Given the description of an element on the screen output the (x, y) to click on. 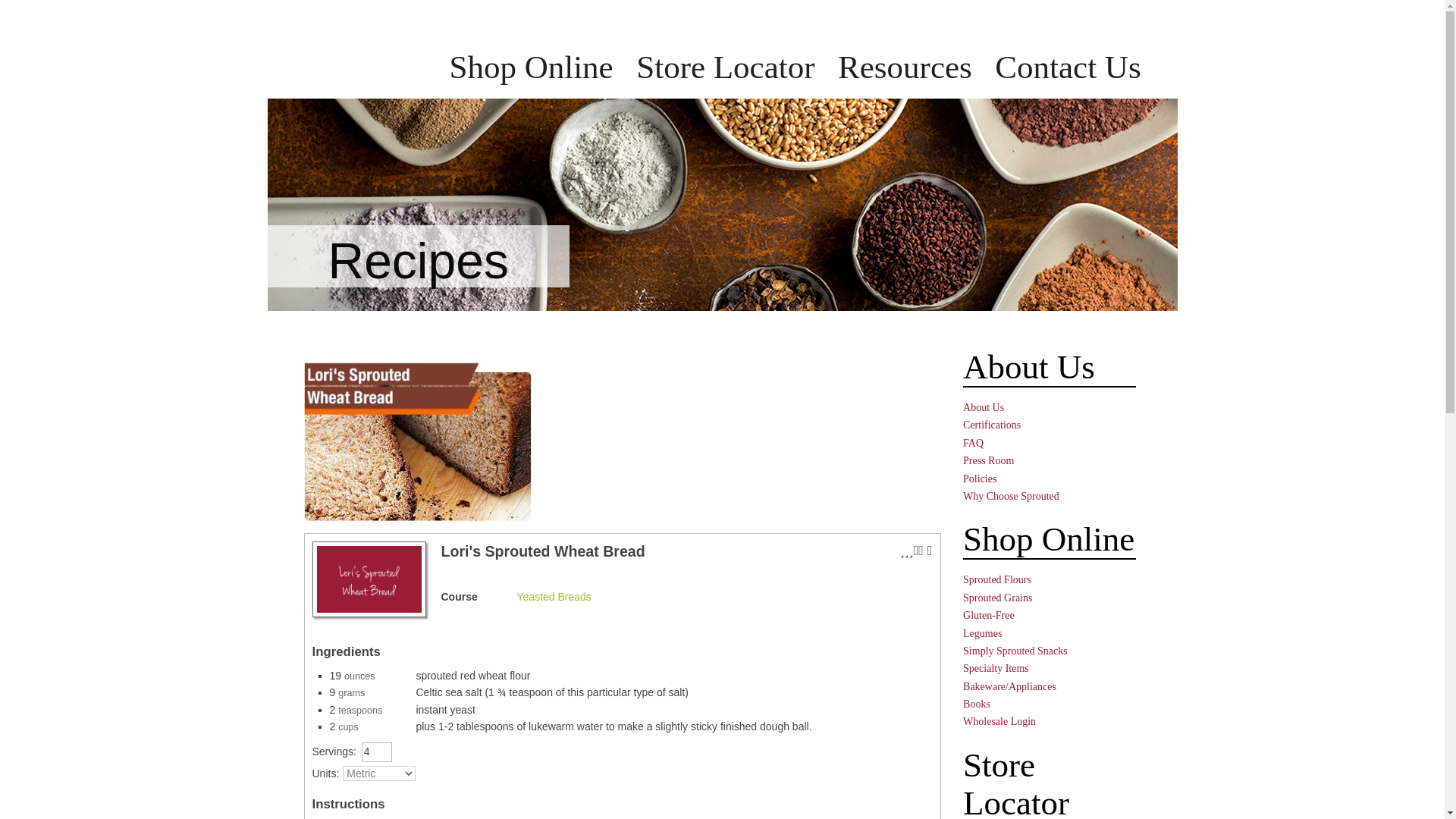
Specialty Items (995, 668)
login (1149, 17)
Contact Us (1067, 67)
About Us (983, 407)
FAQ (973, 442)
Certifications (991, 424)
Simply Sprouted Snacks (1014, 650)
policies (839, 17)
Press Room (987, 460)
Legumes (981, 633)
